Given the description of an element on the screen output the (x, y) to click on. 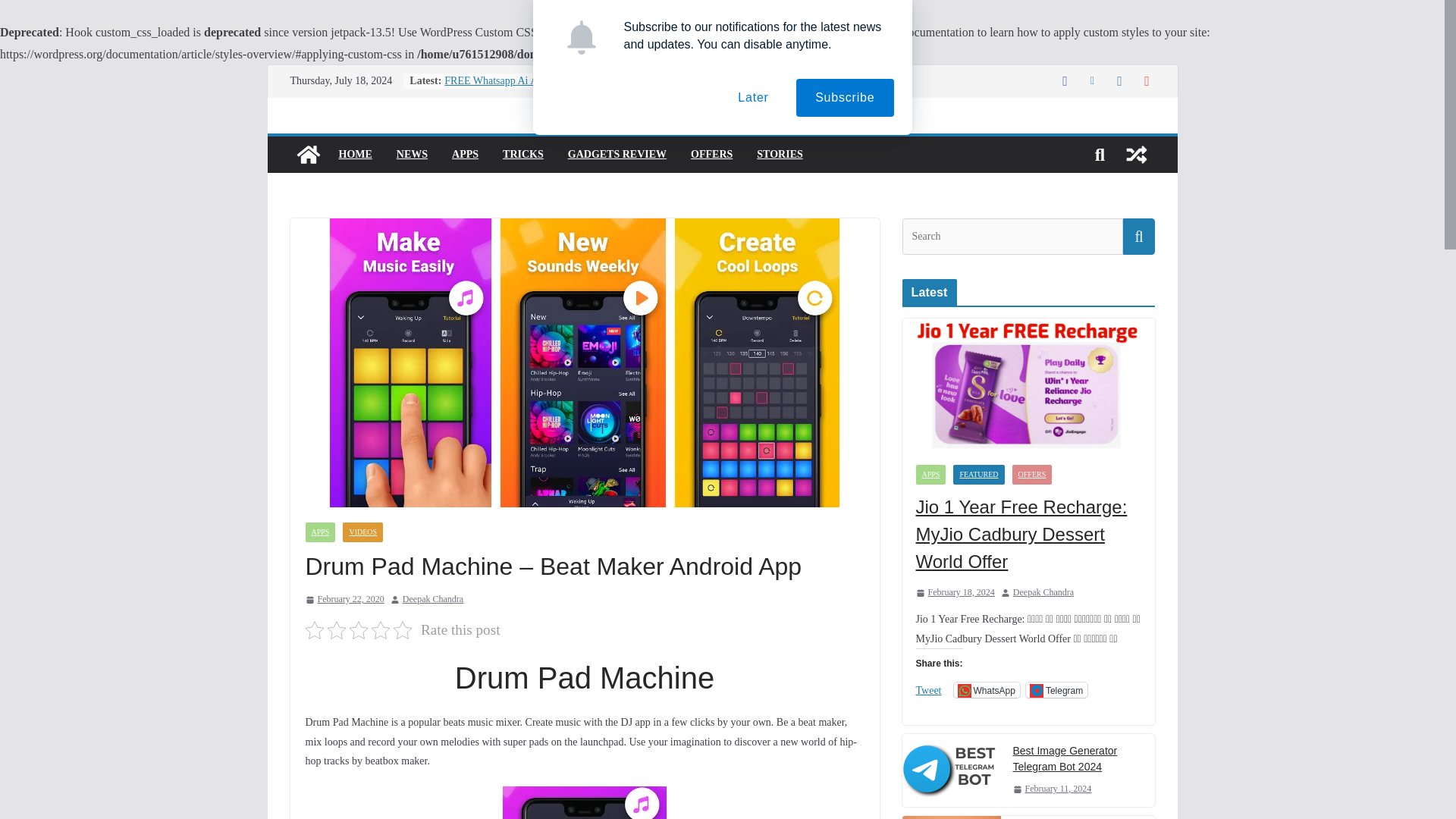
5:00 PM (344, 599)
HOME (354, 154)
APPS (319, 532)
View a random post (1136, 154)
Deepak Chandra (433, 599)
STORIES (779, 154)
TRICKS (522, 154)
VIDEOS (362, 532)
NEWS (412, 154)
APPS (465, 154)
Deepak Chandra (433, 599)
DK Tech Hindi (307, 154)
OFFERS (711, 154)
GADGETS REVIEW (616, 154)
